Given the description of an element on the screen output the (x, y) to click on. 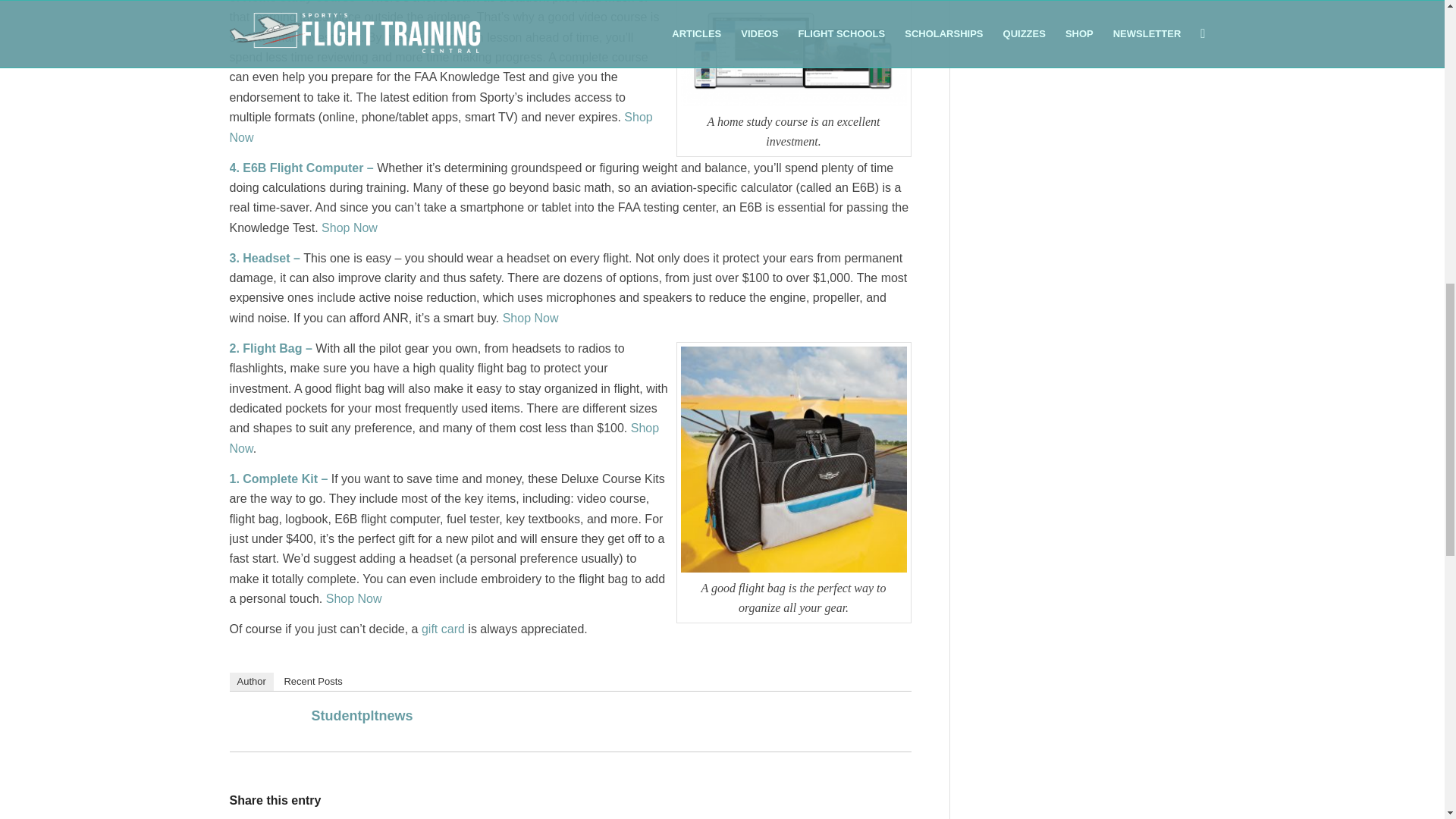
Shop Now (440, 126)
Shop Now (349, 227)
iPad GPSs at Sporty's (440, 126)
Backup iPad Battery (349, 227)
ADS-B receivers at Sporty's (353, 598)
